Given the description of an element on the screen output the (x, y) to click on. 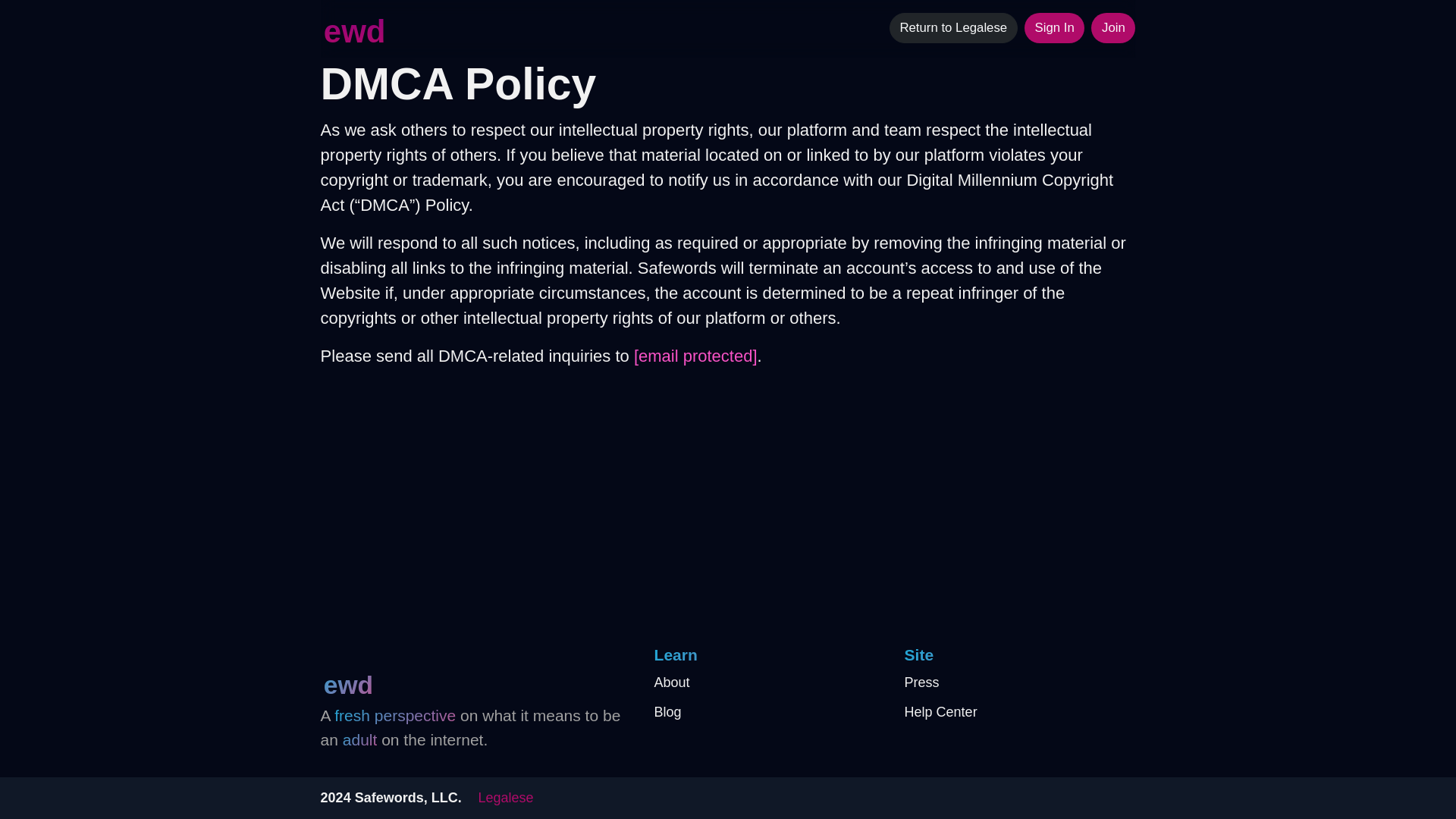
ewd (352, 30)
Join (1112, 28)
Press (1019, 682)
Return to Legalese (953, 28)
Blog (769, 712)
Legalese (504, 797)
Sign In (1054, 28)
About (769, 682)
Help Center (1019, 712)
